Given the description of an element on the screen output the (x, y) to click on. 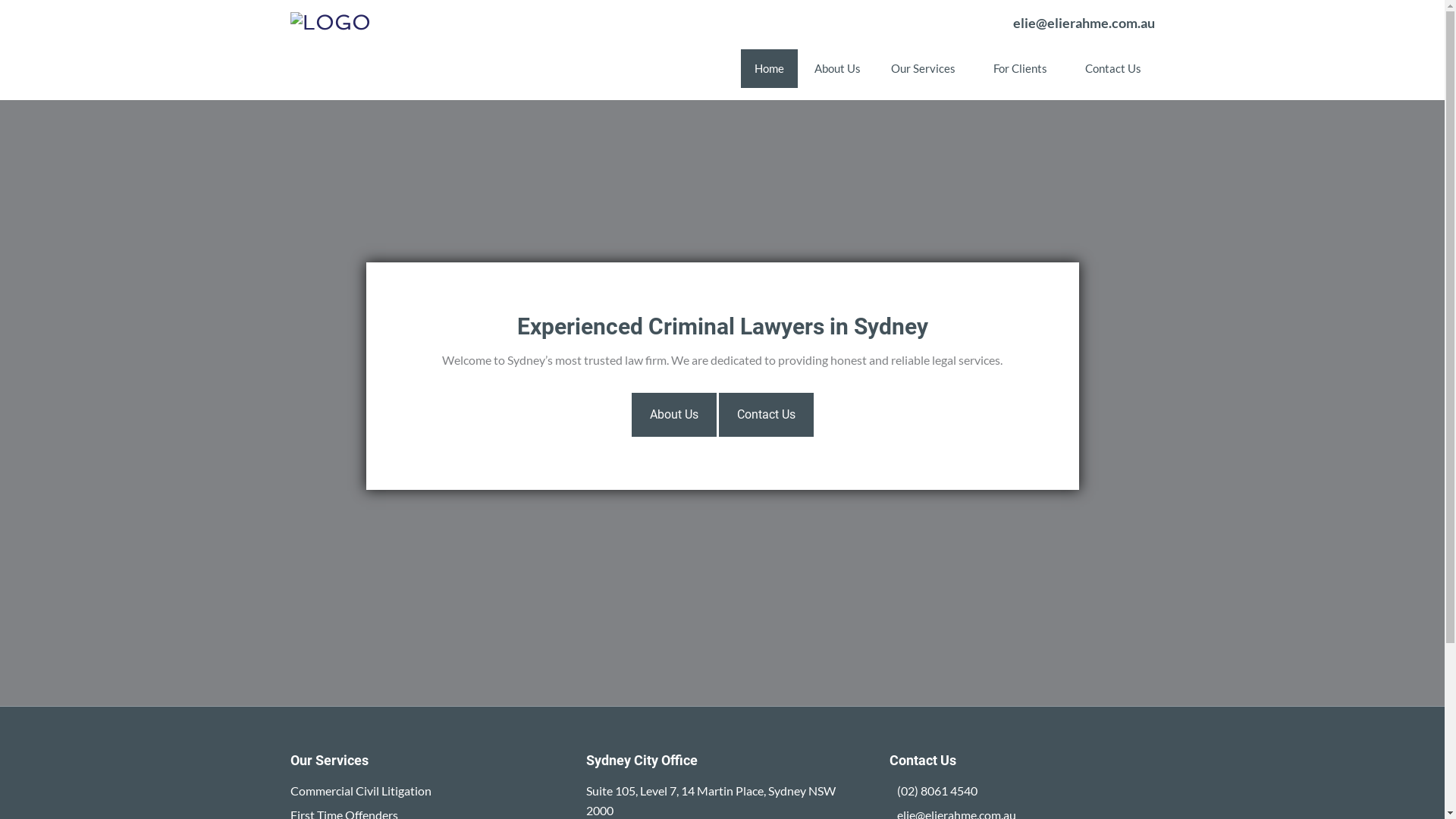
Commercial Civil Litigation Element type: text (359, 790)
Elie Rahme and Associates Pty Ltd Element type: hover (329, 21)
elie@elierahme.com.au Element type: text (1083, 22)
About Us Element type: text (672, 414)
Our Services Element type: text (925, 68)
(02) 8061 4540 Element type: text (936, 790)
Home Element type: text (768, 68)
Contact Us Element type: text (1112, 68)
About Us Element type: text (837, 68)
For Clients Element type: text (1023, 68)
Contact Us Element type: text (765, 414)
